Given the description of an element on the screen output the (x, y) to click on. 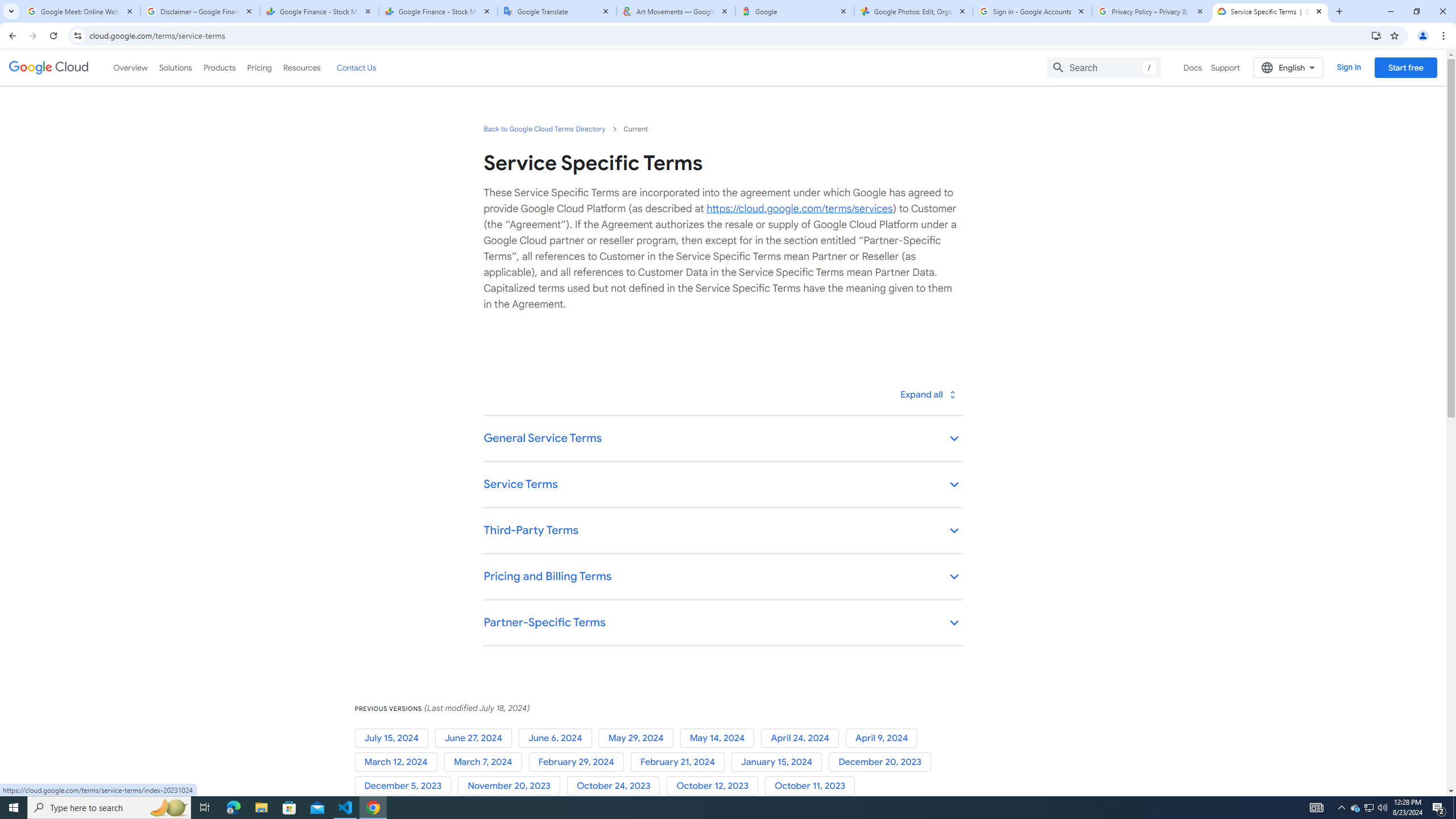
November 20, 2023 (511, 786)
Third-Party Terms keyboard_arrow_down (722, 531)
April 9, 2024 (883, 737)
Docs (1192, 67)
Resources (301, 67)
Pricing (259, 67)
March 12, 2024 (398, 761)
Contact Us (355, 67)
